Given the description of an element on the screen output the (x, y) to click on. 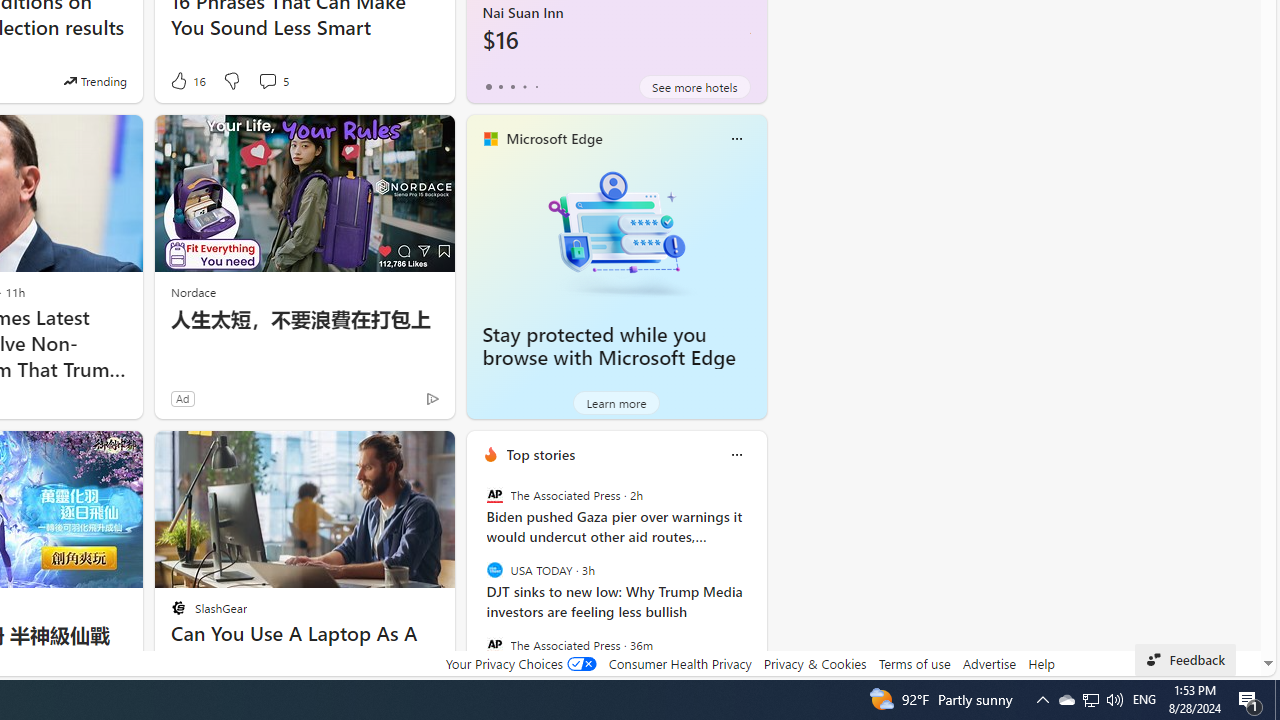
Learn more (616, 402)
Consumer Health Privacy (680, 663)
Help (1040, 663)
Top stories (540, 454)
View comments 5 Comment (272, 80)
tab-0 (488, 86)
next (756, 583)
Terms of use (914, 663)
Stay protected while you browse with Microsoft Edge (616, 232)
tab-2 (511, 86)
The Associated Press (494, 644)
